Given the description of an element on the screen output the (x, y) to click on. 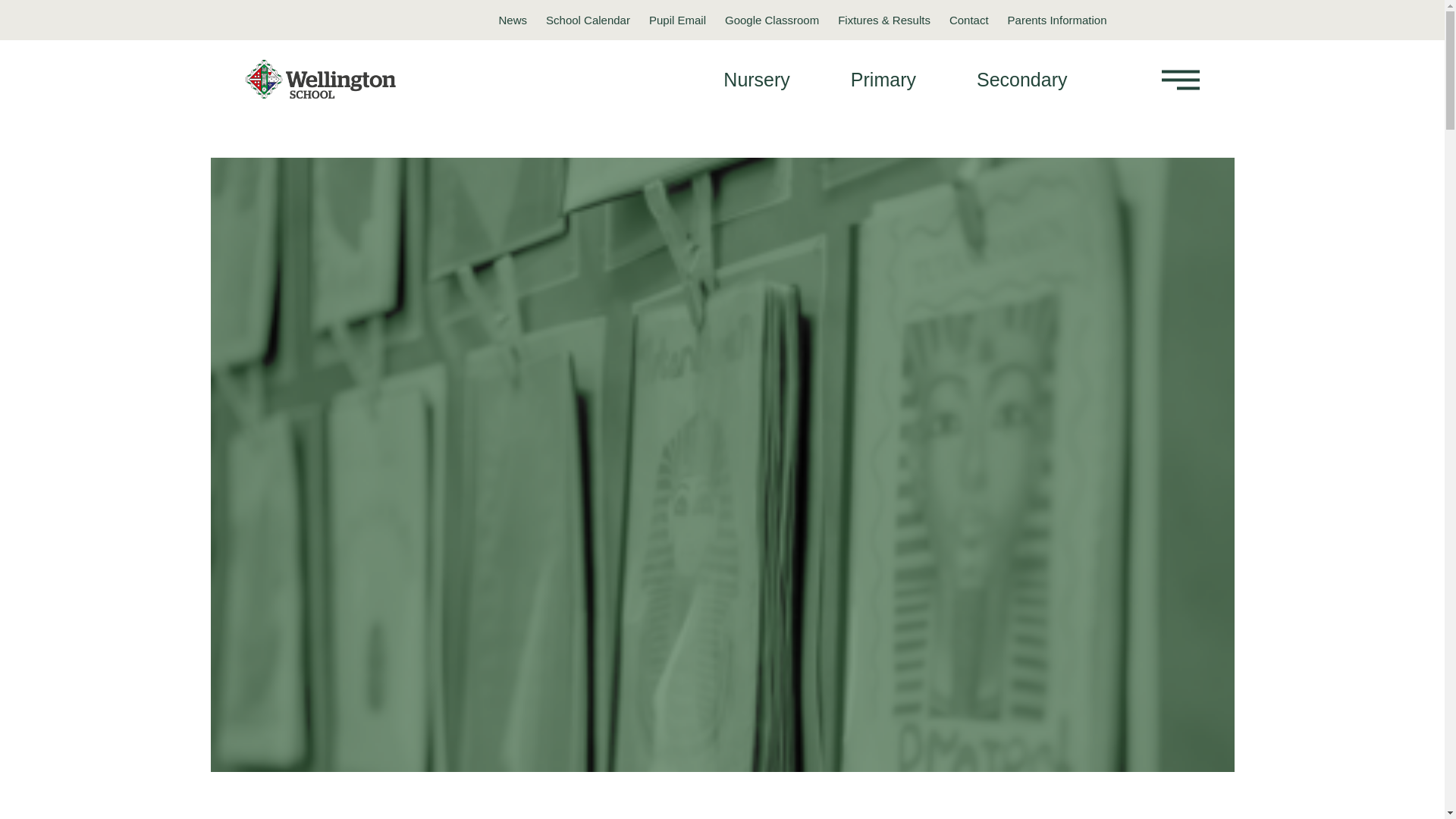
Nursery (756, 78)
Primary (882, 78)
Secondary (1021, 78)
School Calendar (588, 19)
Pupil Email (677, 19)
News (513, 19)
Parents Information (1056, 19)
Google Classroom (771, 19)
Contact (968, 19)
The Only Independent School in Ayrshire (327, 79)
